Given the description of an element on the screen output the (x, y) to click on. 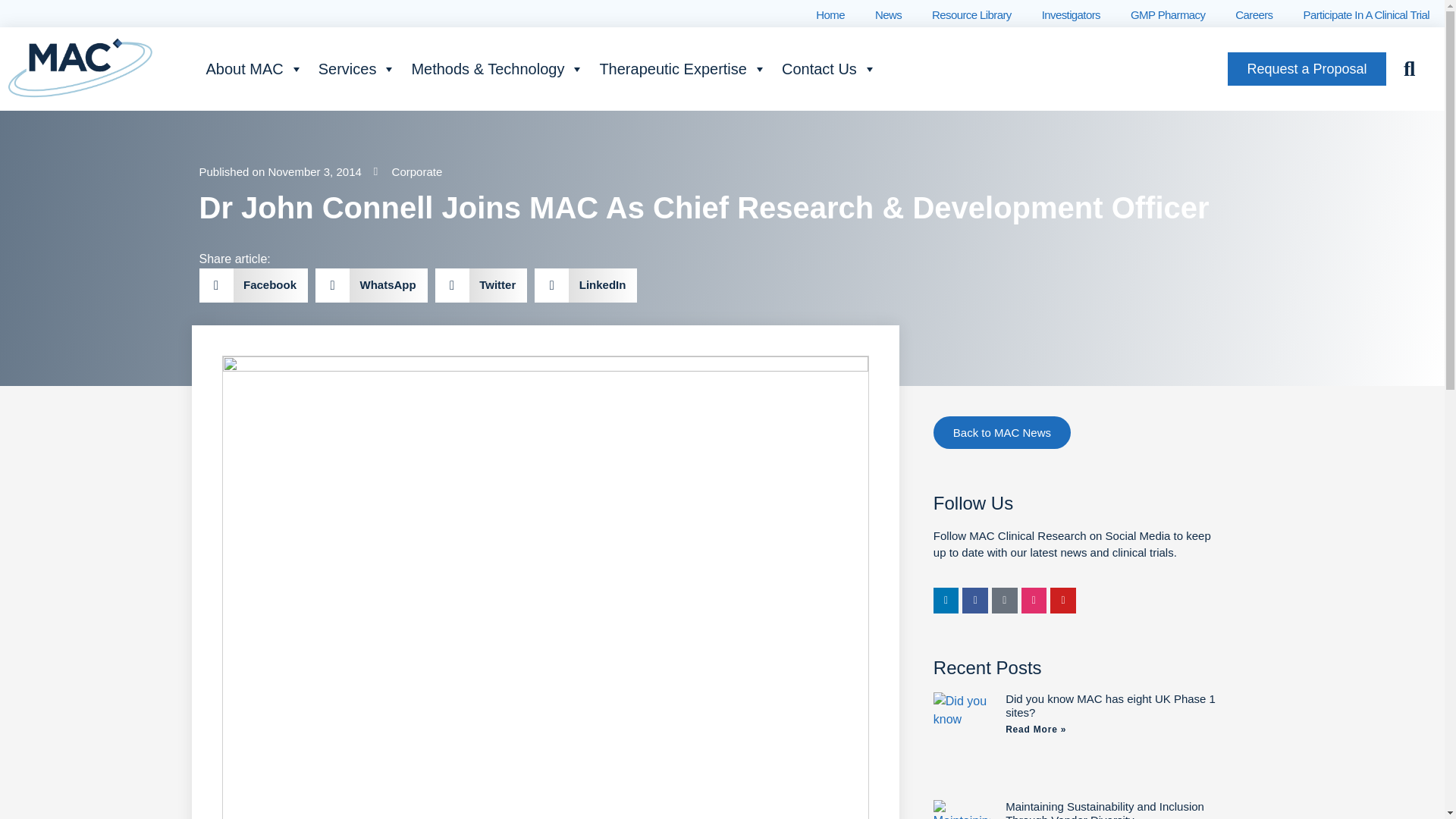
Investigators (1070, 15)
News (888, 15)
Resource Library (971, 15)
Home (830, 15)
Careers (1253, 15)
GMP Pharmacy (1167, 15)
About MAC (254, 69)
Services (357, 69)
